Given the description of an element on the screen output the (x, y) to click on. 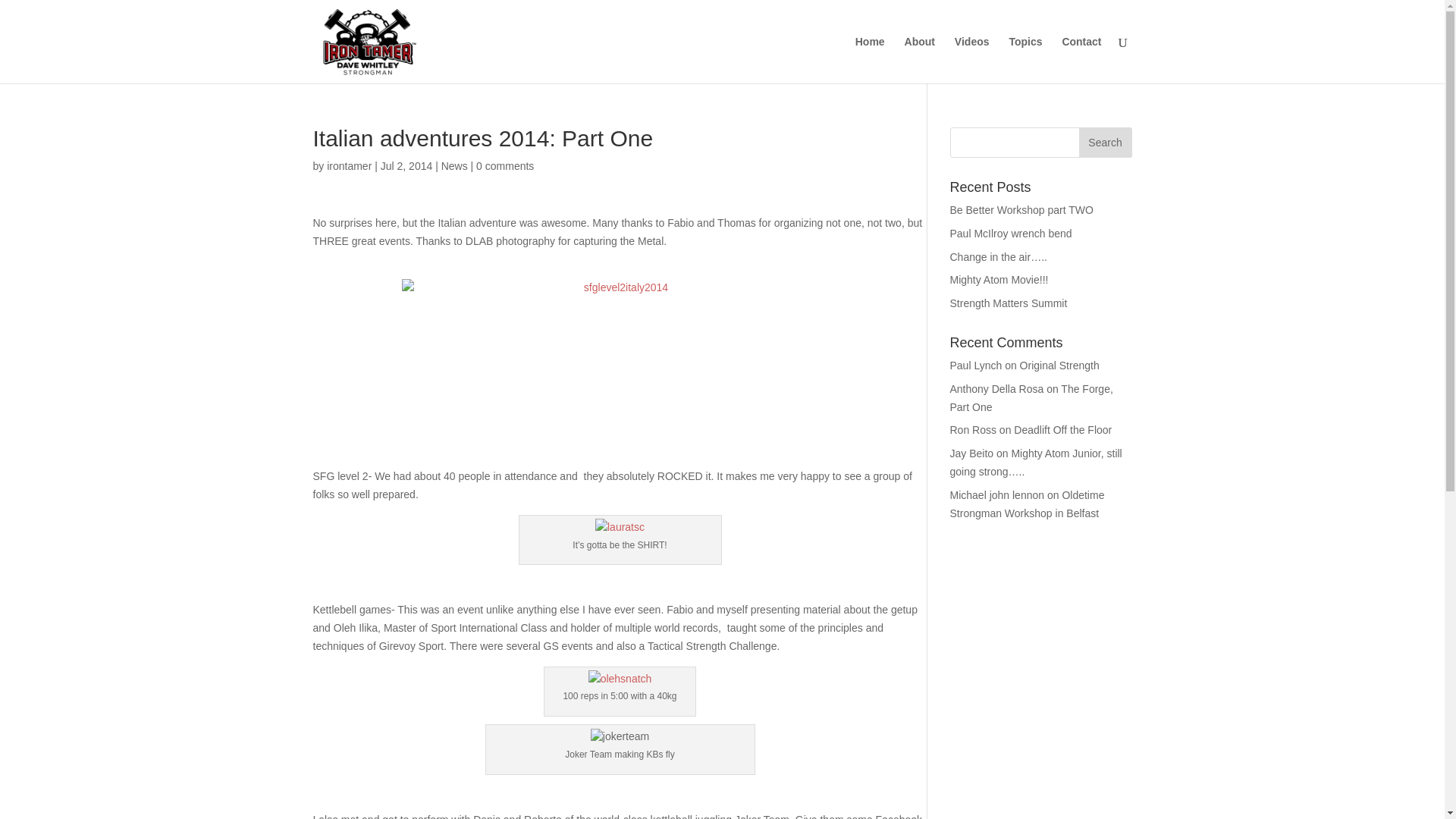
Search (1104, 142)
Be Better Workshop part TWO (1021, 209)
0 comments (505, 165)
irontamer (348, 165)
Paul McIlroy wrench bend (1010, 233)
News (454, 165)
The Forge, Part One (1030, 398)
Mighty Atom Movie!!! (998, 279)
Posts by irontamer (348, 165)
Jay Beito (970, 453)
Strength Matters Summit (1008, 303)
Original Strength (1059, 365)
Search (1104, 142)
Deadlift Off the Floor (1062, 429)
Oldetime Strongman Workshop in Belfast (1026, 503)
